Given the description of an element on the screen output the (x, y) to click on. 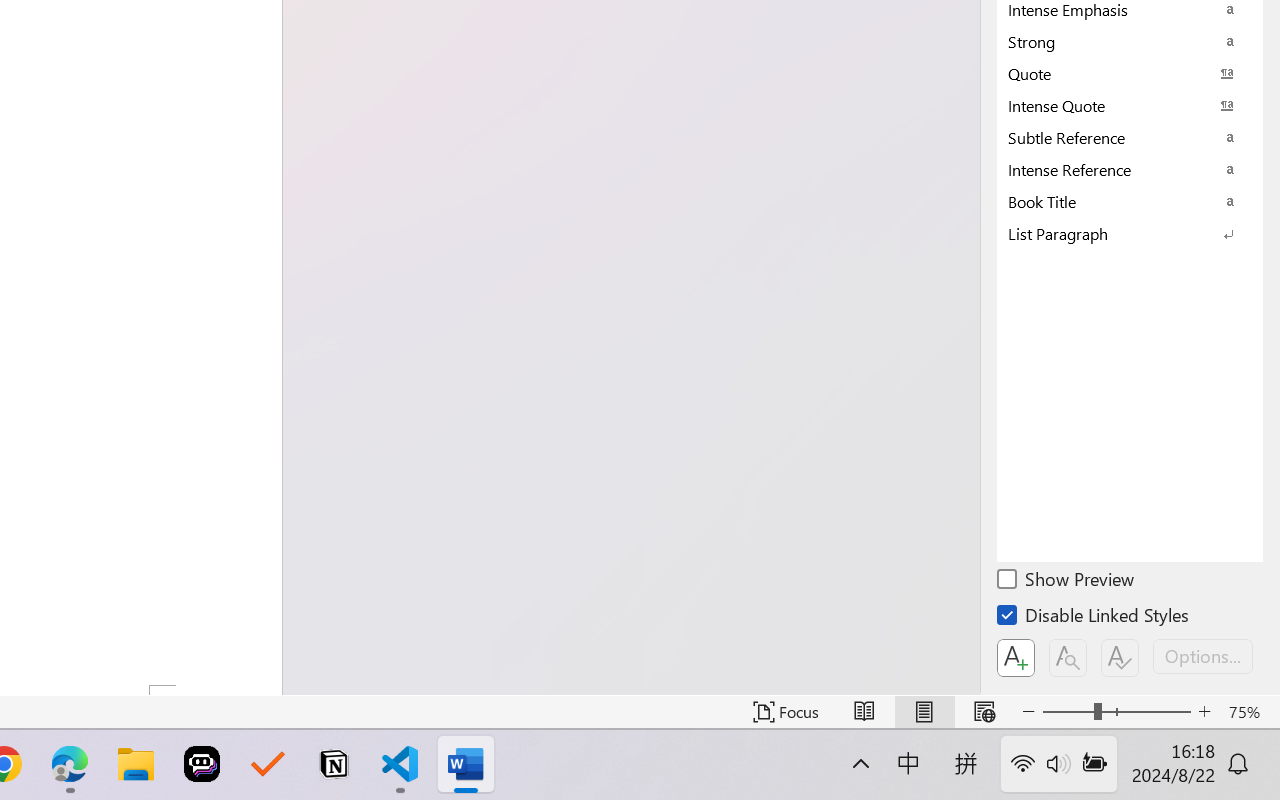
Subtle Reference (1130, 137)
Intense Reference (1130, 169)
List Paragraph (1130, 233)
